Given the description of an element on the screen output the (x, y) to click on. 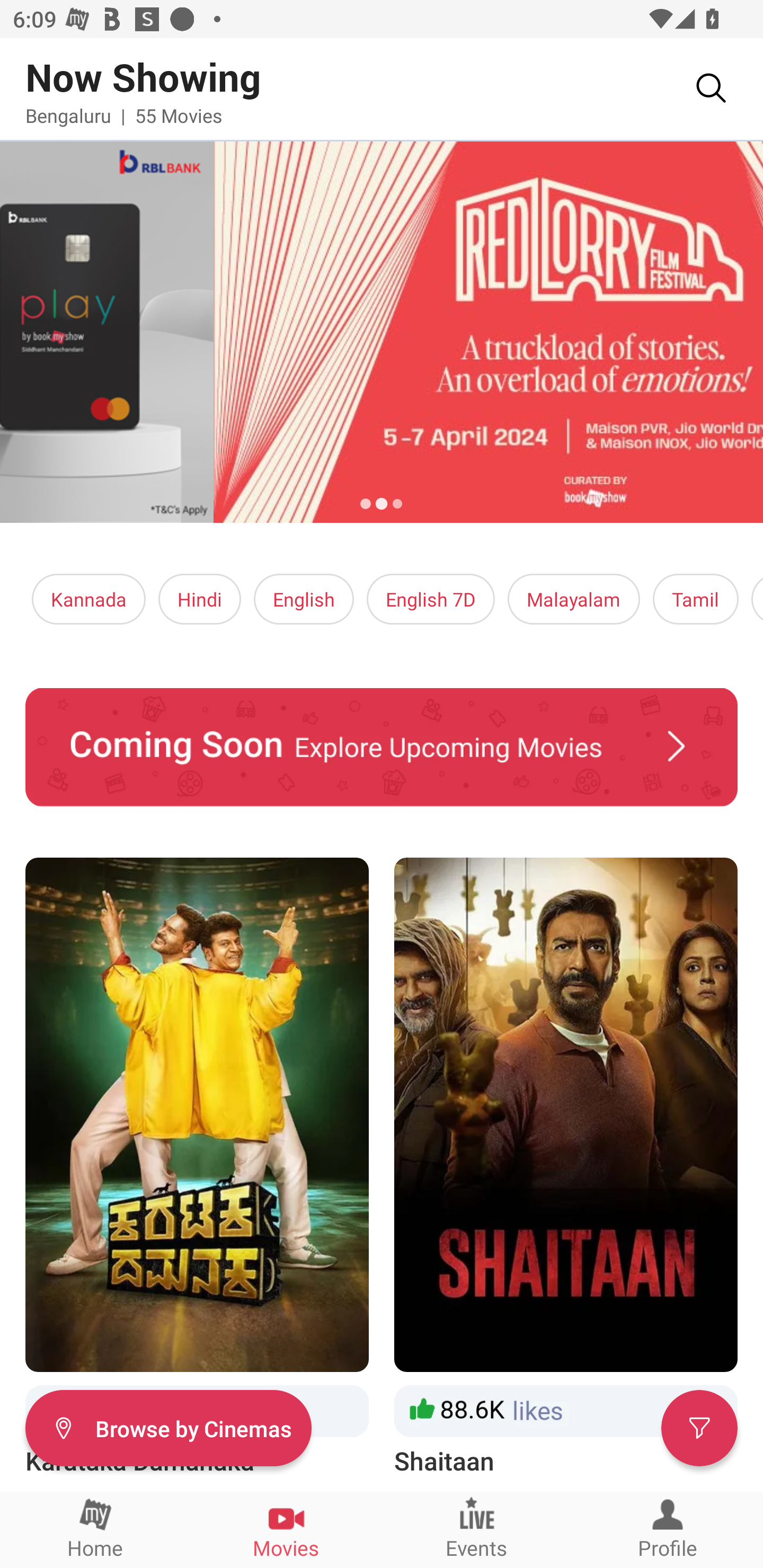
Bengaluru  |  55 Movies (123, 114)
Kannada (88, 598)
Hindi (199, 598)
English (304, 598)
English 7D (431, 598)
Malayalam (573, 598)
Tamil (695, 598)
Karataka Damanaka (196, 1167)
Shaitaan (565, 1167)
Filter Browse by Cinemas (168, 1427)
Filter (699, 1427)
Home (95, 1529)
Movies (285, 1529)
Events (476, 1529)
Profile (667, 1529)
